Given the description of an element on the screen output the (x, y) to click on. 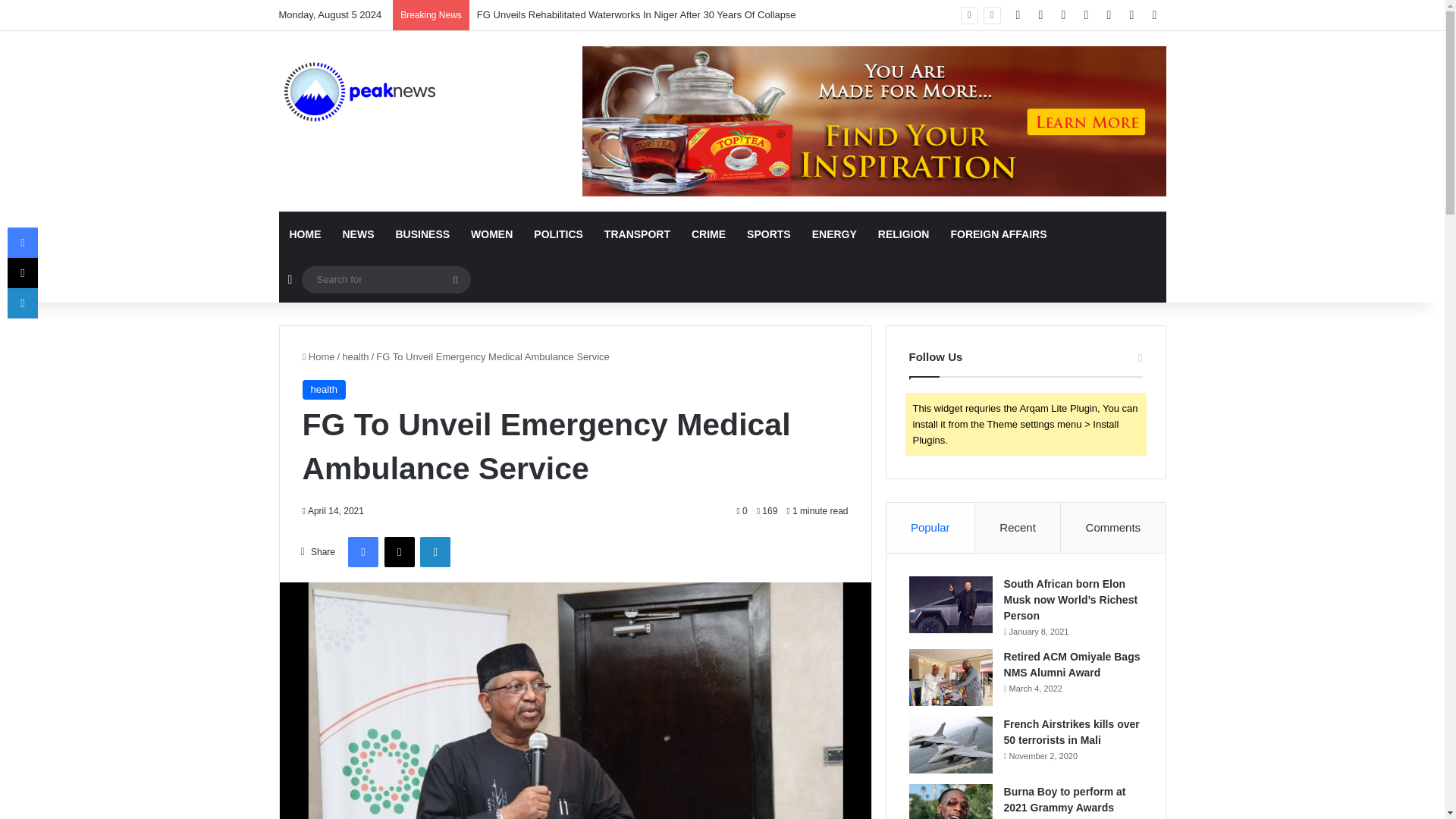
X (399, 552)
RELIGION (903, 234)
HOME (305, 234)
LinkedIn (434, 552)
BUSINESS (423, 234)
WOMEN (491, 234)
NEWS (358, 234)
health (323, 389)
TRANSPORT (637, 234)
LinkedIn (434, 552)
ENERGY (834, 234)
Search for (385, 279)
Search for (454, 279)
X (399, 552)
FOREIGN AFFAIRS (998, 234)
